Given the description of an element on the screen output the (x, y) to click on. 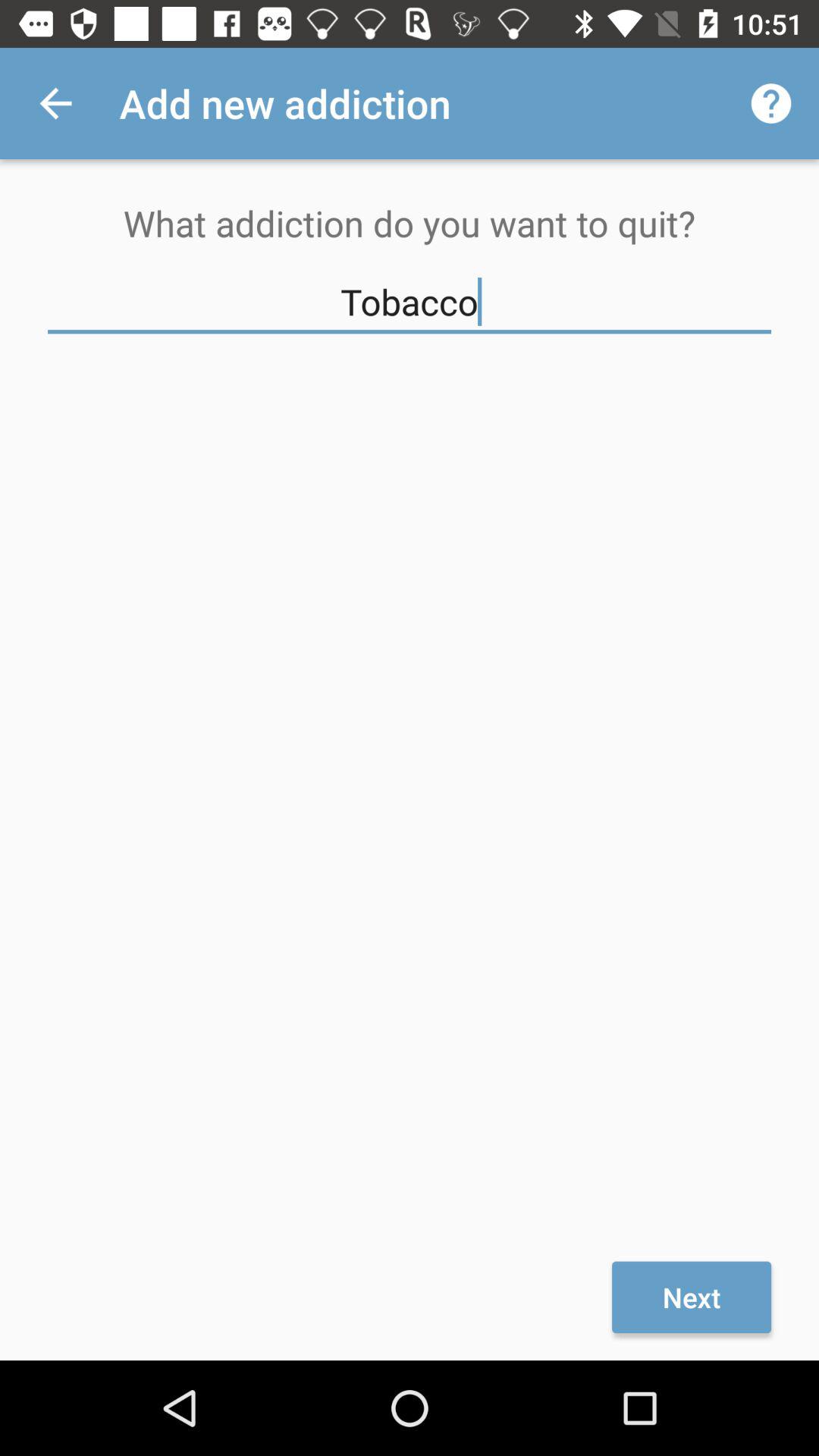
flip to tobacco (409, 302)
